Given the description of an element on the screen output the (x, y) to click on. 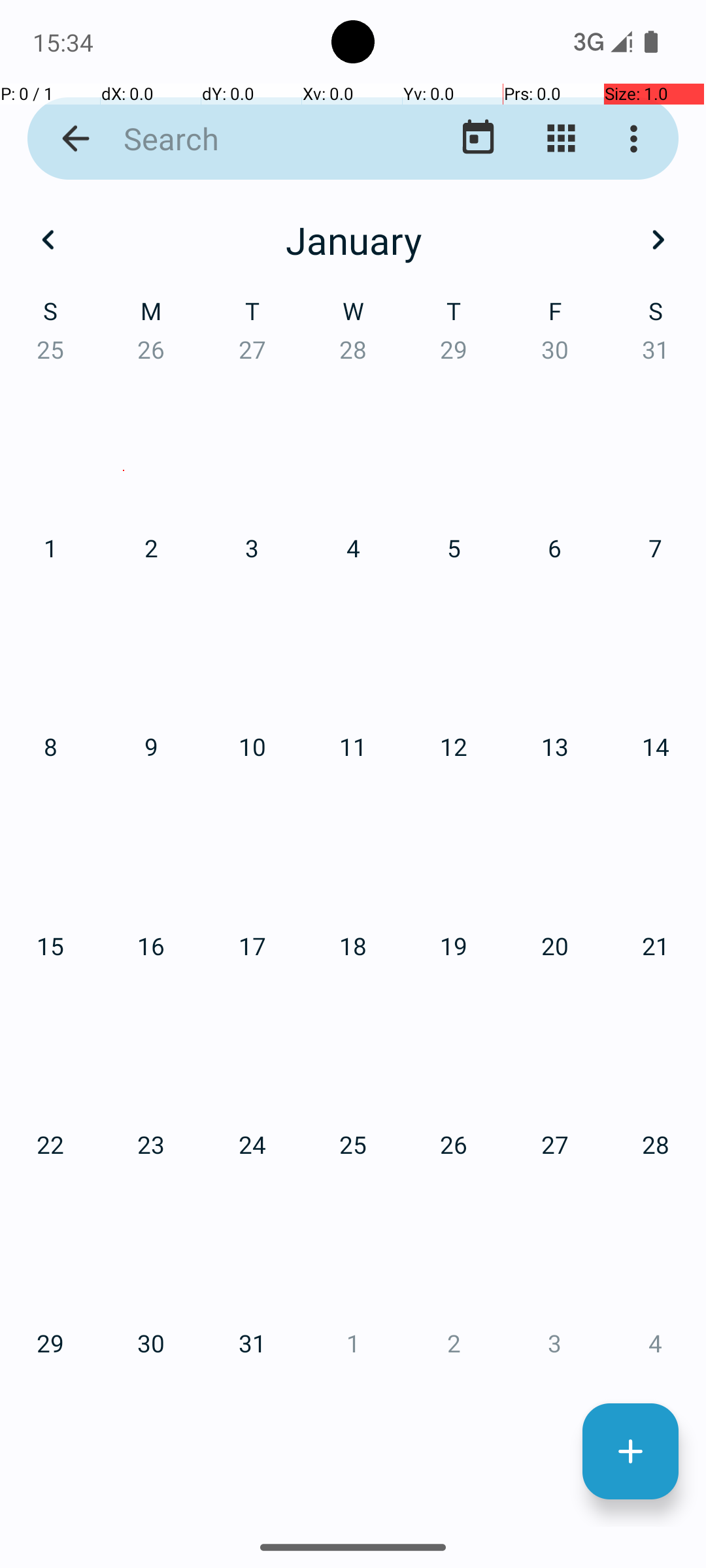
Go to today Element type: android.widget.Button (477, 138)
JANUARY Element type: android.widget.TextView (123, 319)
FEBRUARY Element type: android.widget.TextView (352, 319)
MARCH Element type: android.widget.TextView (582, 319)
APRIL Element type: android.widget.TextView (123, 621)
MAY Element type: android.widget.TextView (352, 621)
JUNE Element type: android.widget.TextView (582, 621)
JULY Element type: android.widget.TextView (123, 923)
AUGUST Element type: android.widget.TextView (352, 923)
SEPTEMBER Element type: android.widget.TextView (582, 923)
OCTOBER Element type: android.widget.TextView (123, 1224)
NOVEMBER Element type: android.widget.TextView (352, 1224)
DECEMBER Element type: android.widget.TextView (582, 1224)
January Element type: android.widget.TextView (352, 239)
